Given the description of an element on the screen output the (x, y) to click on. 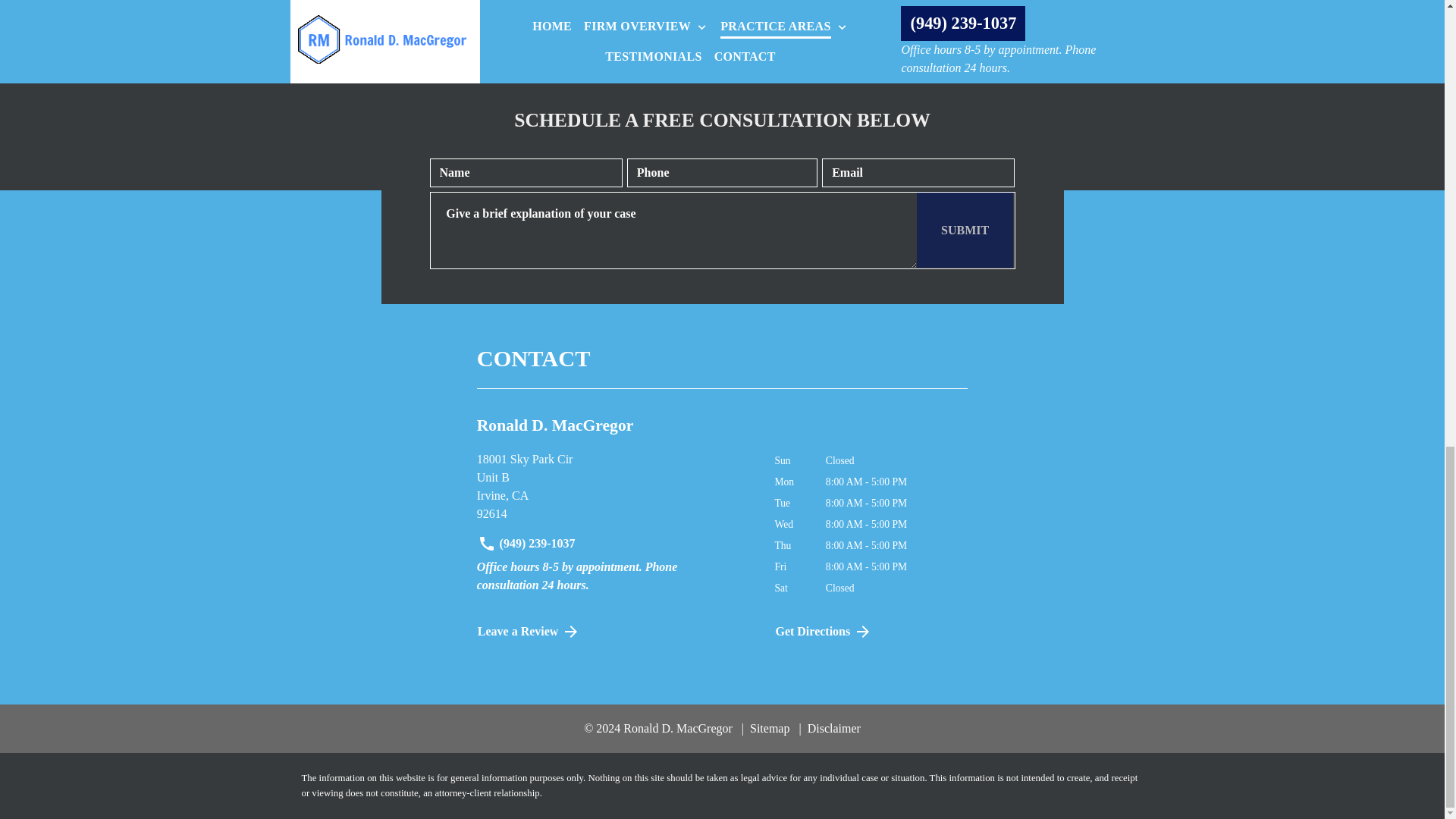
Sitemap (614, 486)
SUBMIT (765, 727)
Leave a Review (965, 229)
Get Directions (614, 631)
